Given the description of an element on the screen output the (x, y) to click on. 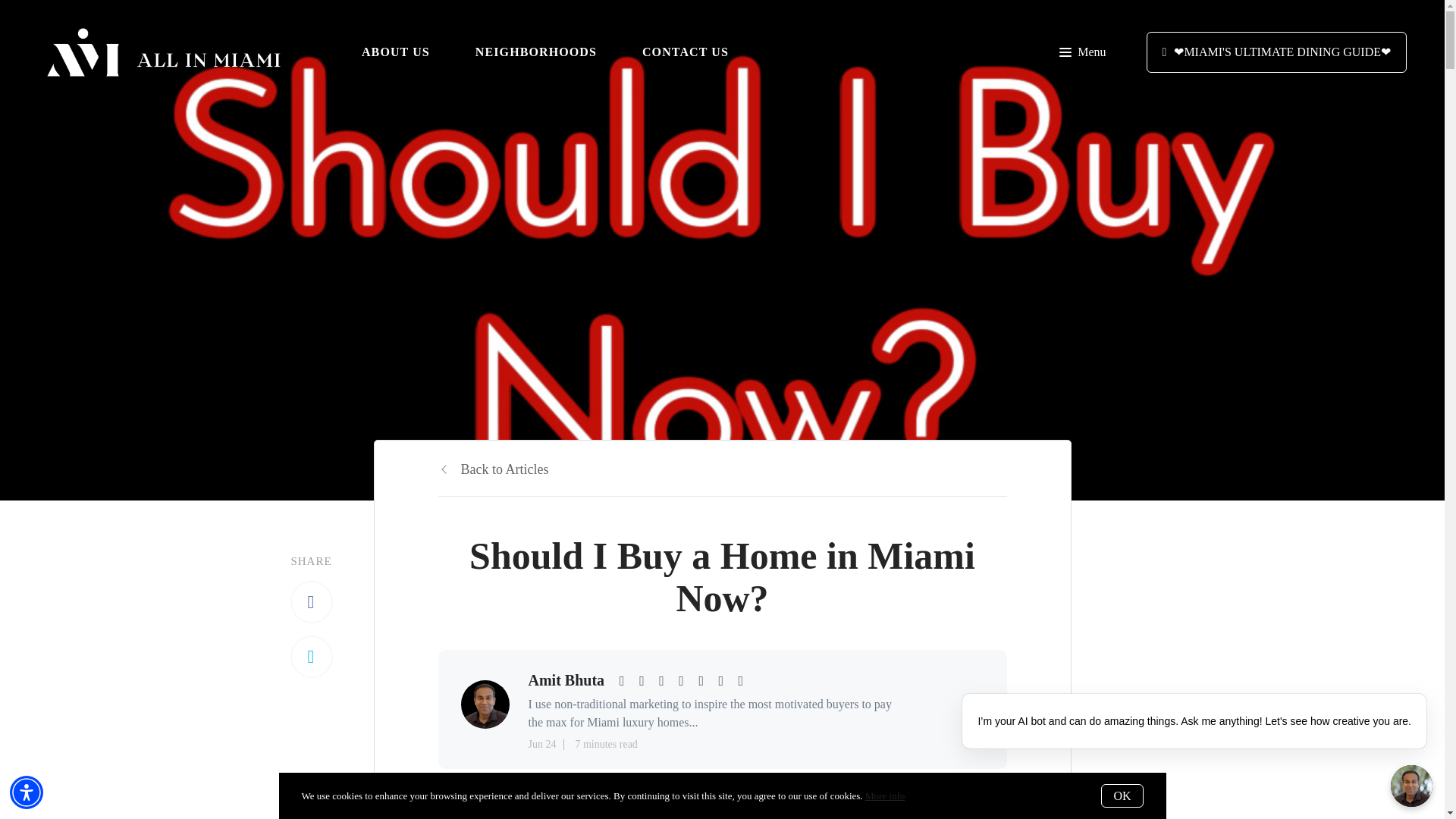
Menu (1082, 52)
More info (884, 795)
OK (1121, 795)
Accessibility Menu (26, 792)
NEIGHBORHOODS (536, 52)
Back to Articles (493, 468)
ABOUT US (395, 52)
CONTACT US (685, 52)
